Given the description of an element on the screen output the (x, y) to click on. 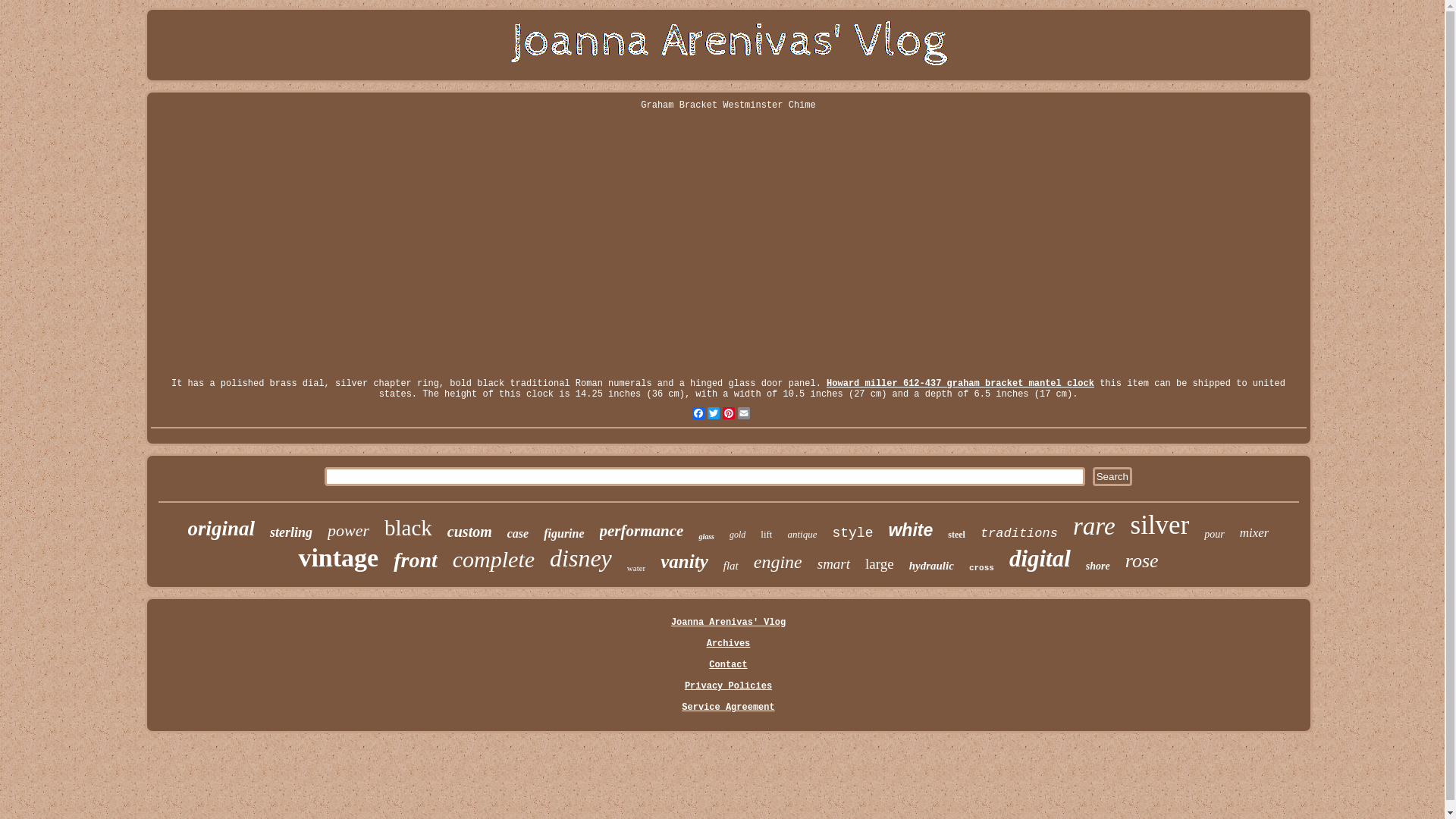
cross Element type: text (981, 567)
Twitter Element type: text (712, 413)
sterling Element type: text (290, 532)
Privacy Policies Element type: text (727, 685)
digital Element type: text (1039, 558)
custom Element type: text (469, 531)
Pinterest Element type: text (727, 413)
complete Element type: text (493, 559)
glass Element type: text (706, 536)
Email Element type: text (742, 413)
mixer Element type: text (1254, 532)
case Element type: text (517, 533)
black Element type: text (408, 527)
Service Agreement Element type: text (727, 707)
steel Element type: text (956, 534)
rose Element type: text (1141, 560)
style Element type: text (851, 532)
antique Element type: text (801, 534)
traditions Element type: text (1018, 533)
front Element type: text (415, 560)
rare Element type: text (1094, 526)
white Element type: text (910, 530)
Howard miller 612-437 graham bracket mantel clock Element type: text (960, 383)
engine Element type: text (777, 562)
water Element type: text (636, 567)
Archives Element type: text (728, 643)
shore Element type: text (1097, 566)
hydraulic Element type: text (931, 565)
gold Element type: text (737, 534)
Joanna Arenivas' Vlog Element type: text (728, 622)
Search Element type: text (1112, 476)
flat Element type: text (730, 565)
vanity Element type: text (684, 561)
original Element type: text (221, 528)
large Element type: text (879, 563)
disney Element type: text (580, 558)
lift Element type: text (765, 534)
silver Element type: text (1159, 525)
Facebook Element type: text (697, 413)
Contact Element type: text (727, 664)
smart Element type: text (833, 563)
power Element type: text (348, 530)
performance Element type: text (641, 530)
vintage Element type: text (338, 557)
pour Element type: text (1213, 534)
figurine Element type: text (563, 533)
